Given the description of an element on the screen output the (x, y) to click on. 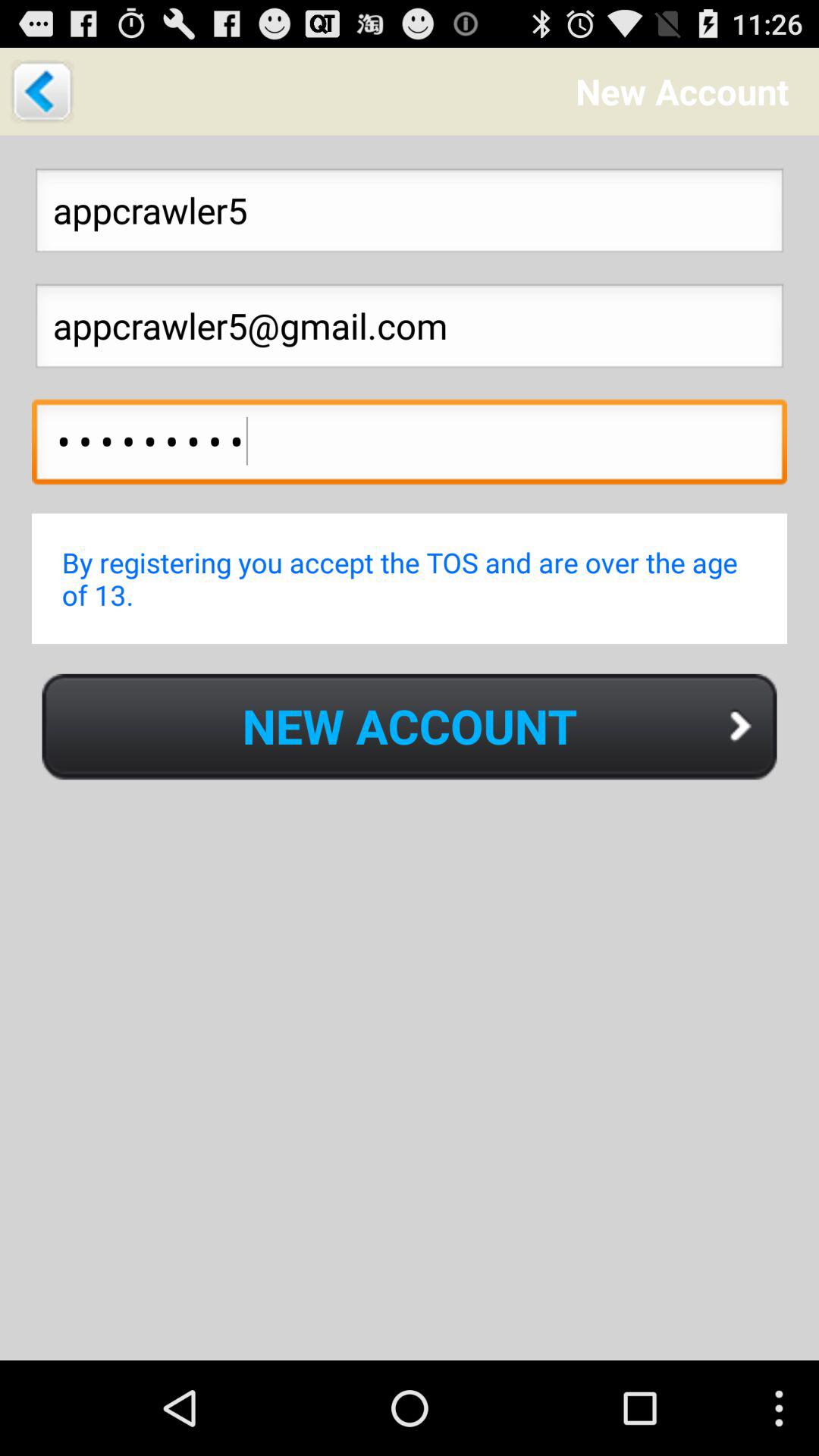
go back (41, 91)
